Given the description of an element on the screen output the (x, y) to click on. 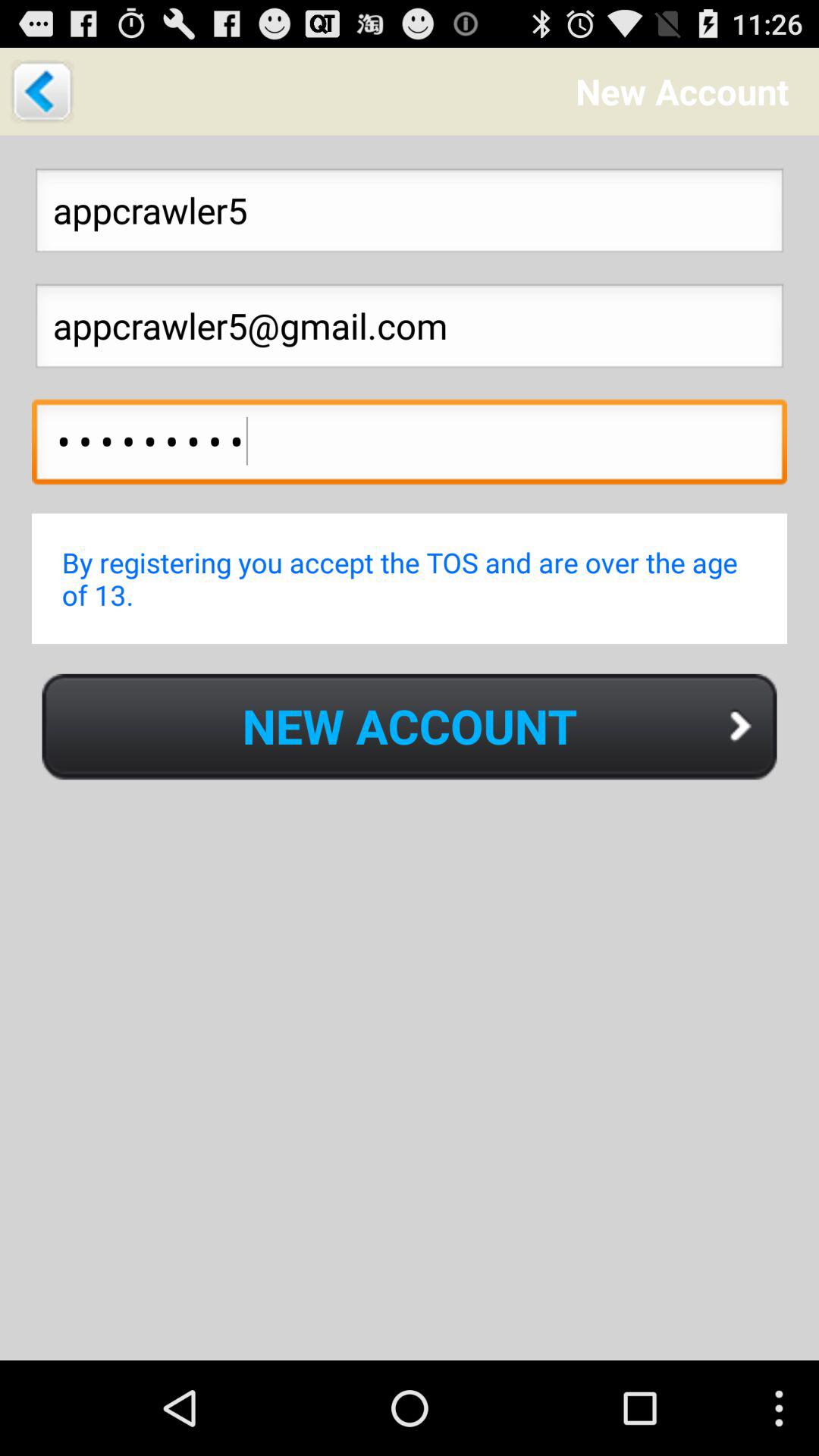
go back (41, 91)
